Given the description of an element on the screen output the (x, y) to click on. 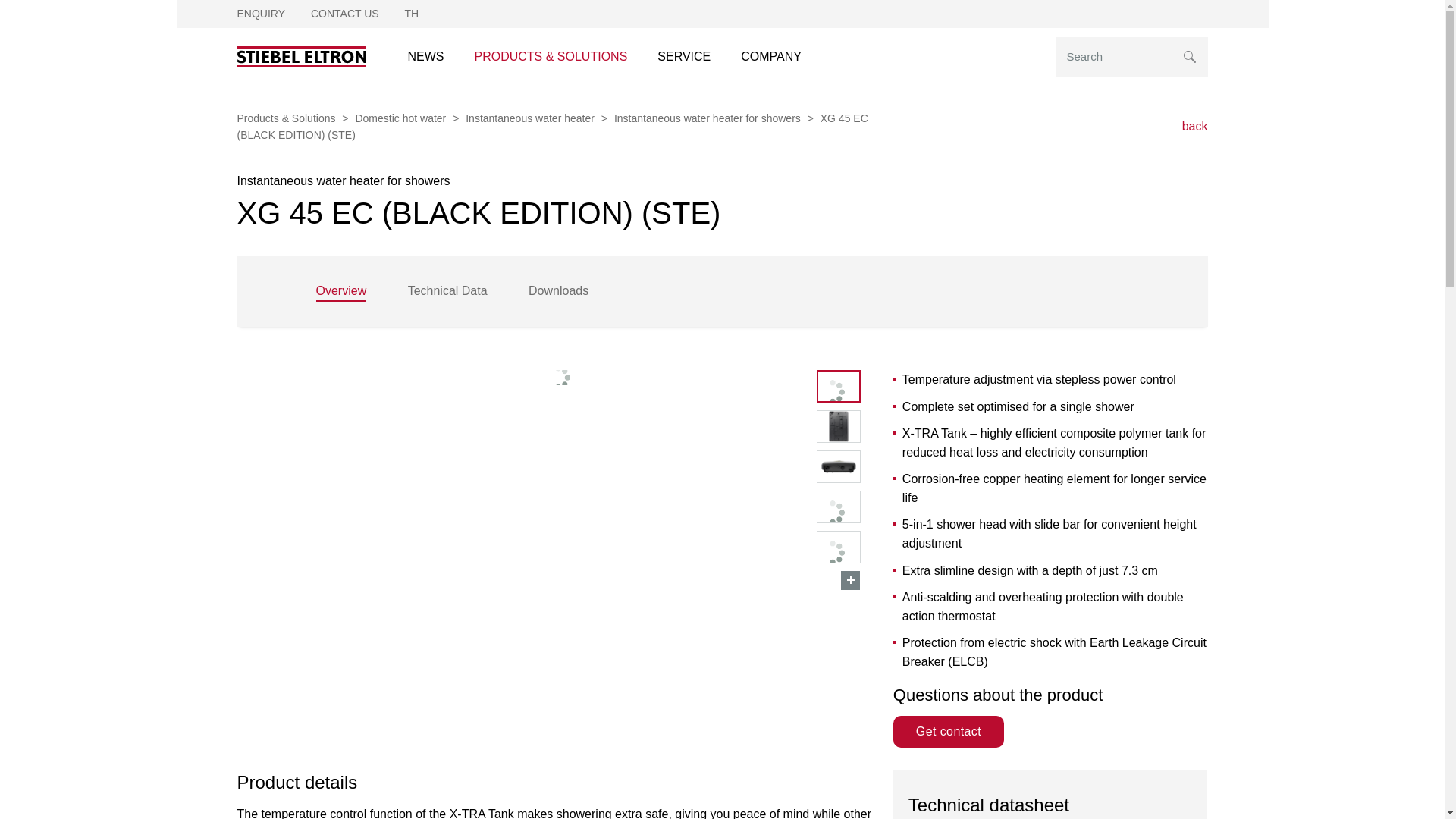
CONTACT US (344, 13)
NEWS (426, 56)
ENQUIRY (260, 13)
TH (411, 13)
